Given the description of an element on the screen output the (x, y) to click on. 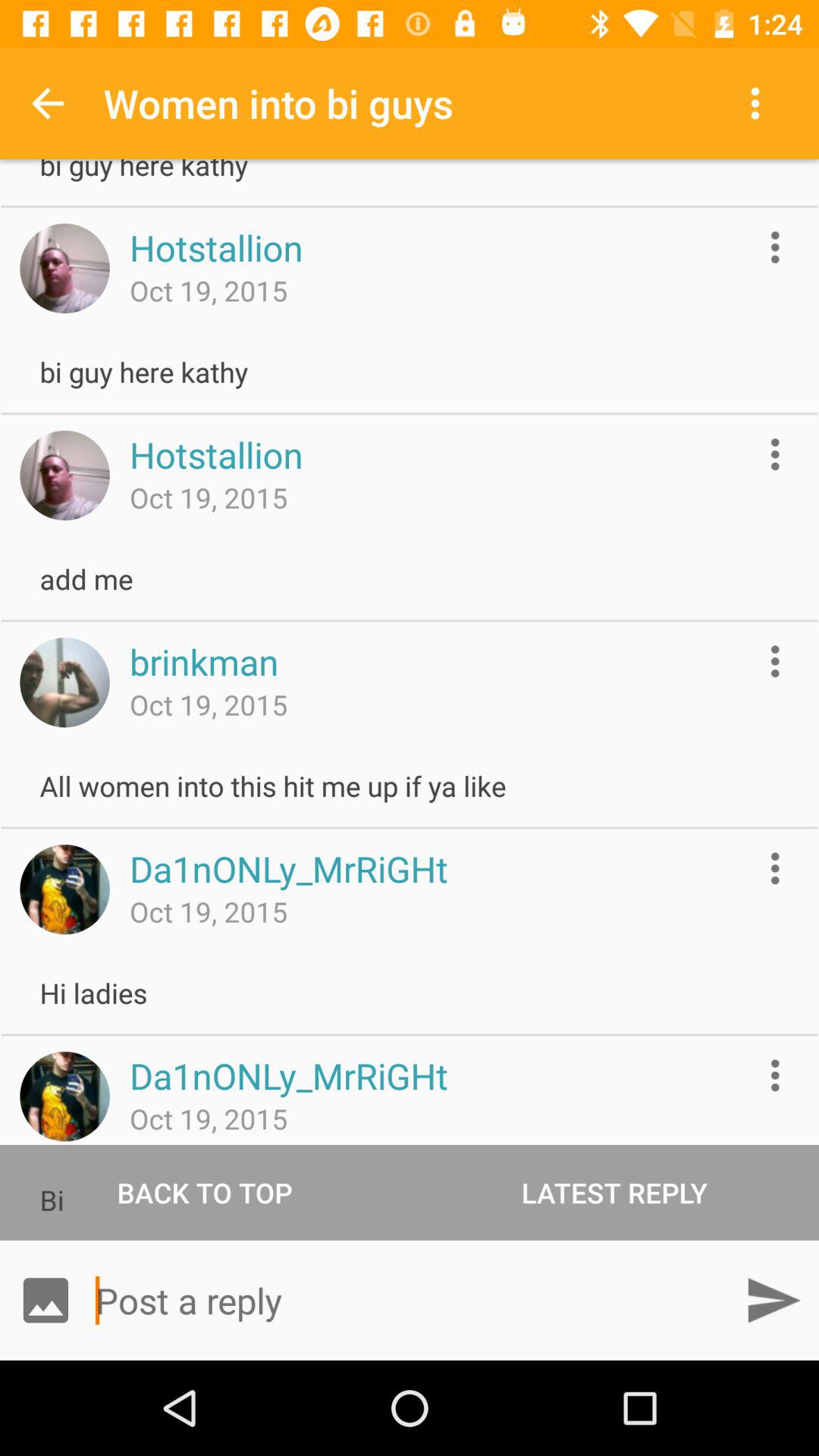
view profile (64, 889)
